Given the description of an element on the screen output the (x, y) to click on. 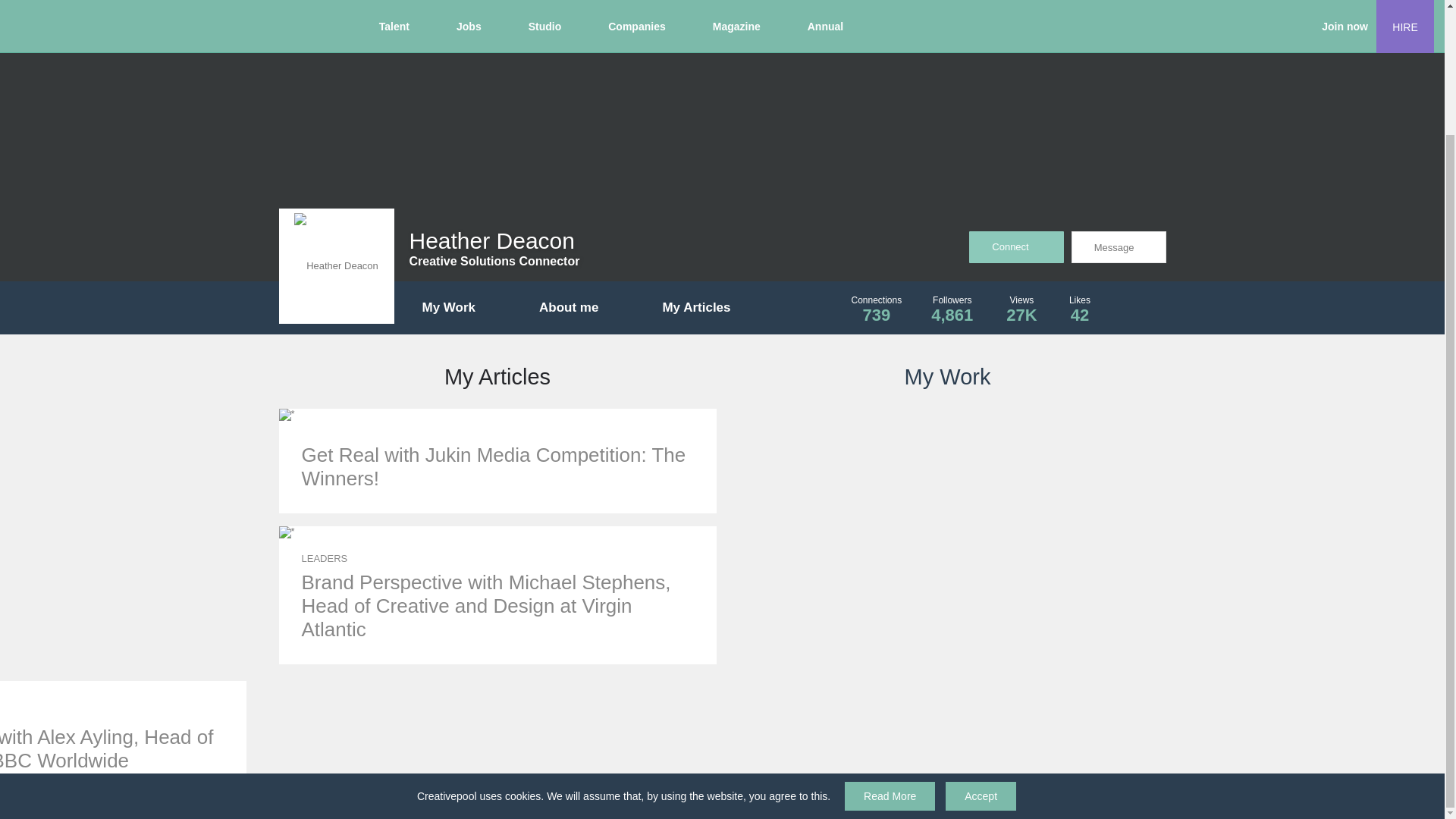
Contact (1118, 246)
My Work (460, 307)
About me (580, 307)
Connect (1016, 246)
My Articles (952, 310)
Message (707, 307)
